Given the description of an element on the screen output the (x, y) to click on. 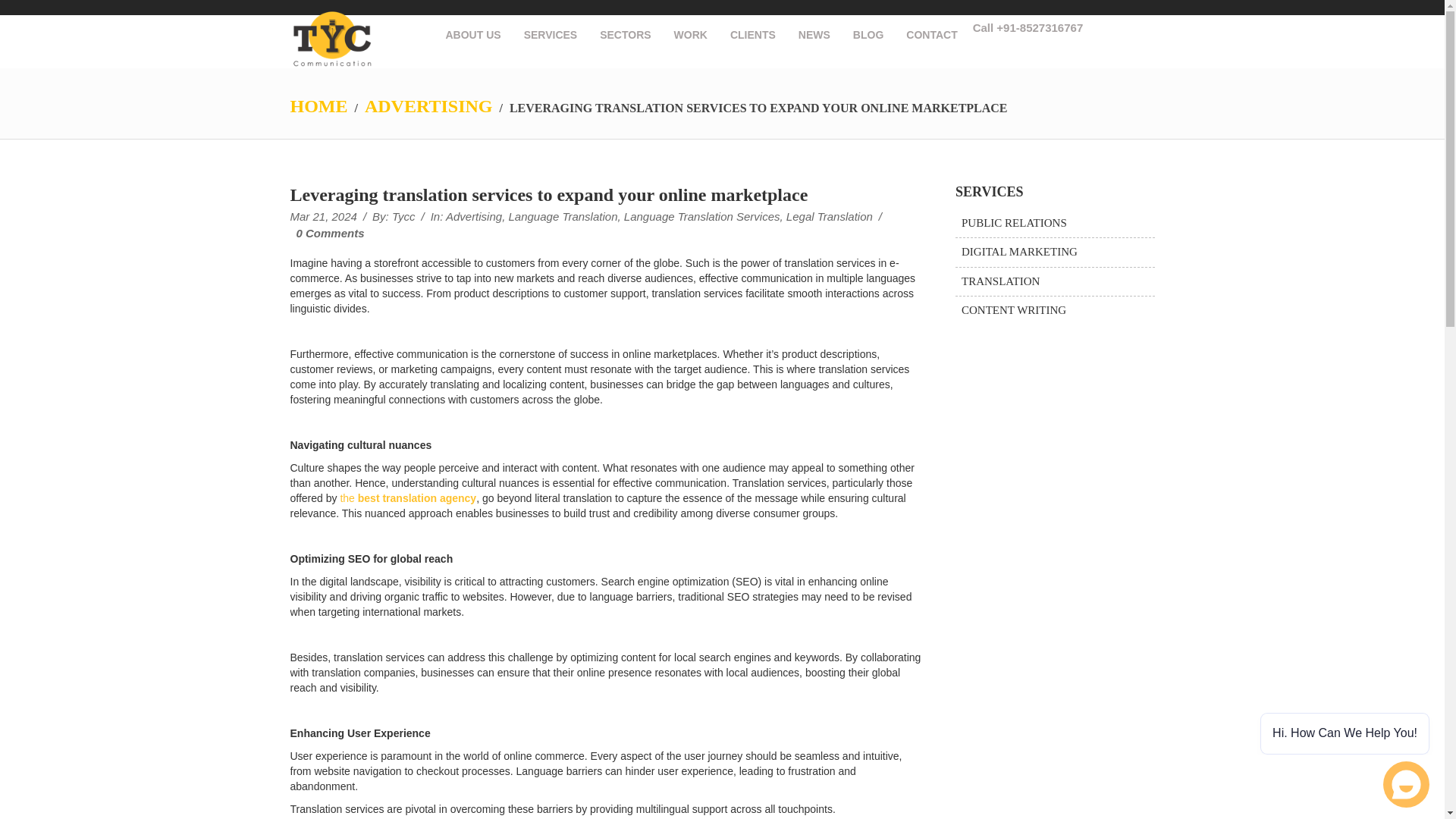
the best translation agency (407, 498)
SECTORS (625, 34)
ADVERTISING (429, 105)
Language Translation (562, 215)
HOME (318, 105)
BLOG (868, 34)
Posts by Tycc (402, 215)
WORK (690, 34)
CONTACT (931, 34)
SERVICES (550, 34)
Mar 21, 2024 (322, 215)
Language Translation Services (702, 215)
TRANSLATION (999, 281)
NEWS (814, 34)
Tycc (402, 215)
